Given the description of an element on the screen output the (x, y) to click on. 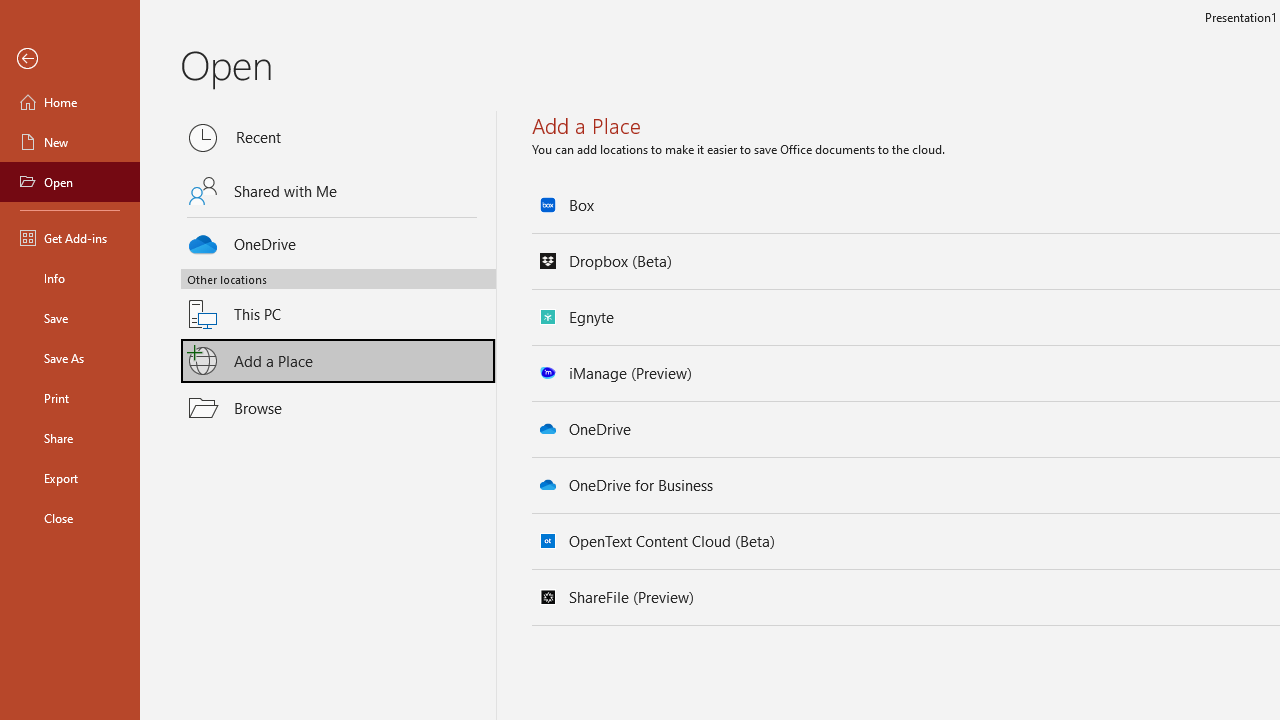
OneDrive (338, 240)
Get Add-ins (69, 237)
Recent (338, 138)
Shared with Me (338, 191)
Save As (69, 357)
Add a Place (338, 361)
Info (69, 277)
Browse (338, 407)
New (69, 141)
